Given the description of an element on the screen output the (x, y) to click on. 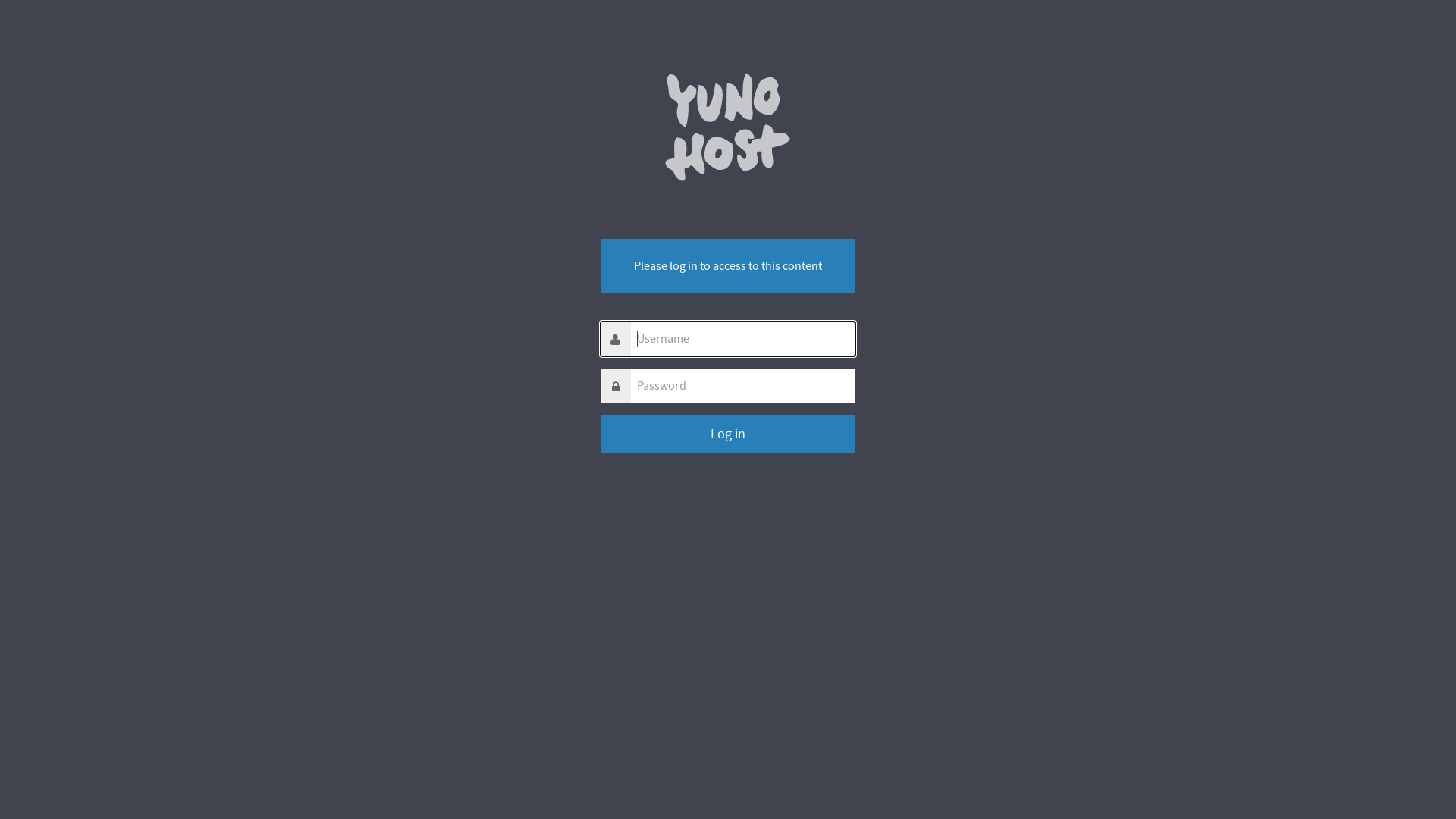
Log in Element type: text (727, 433)
